Given the description of an element on the screen output the (x, y) to click on. 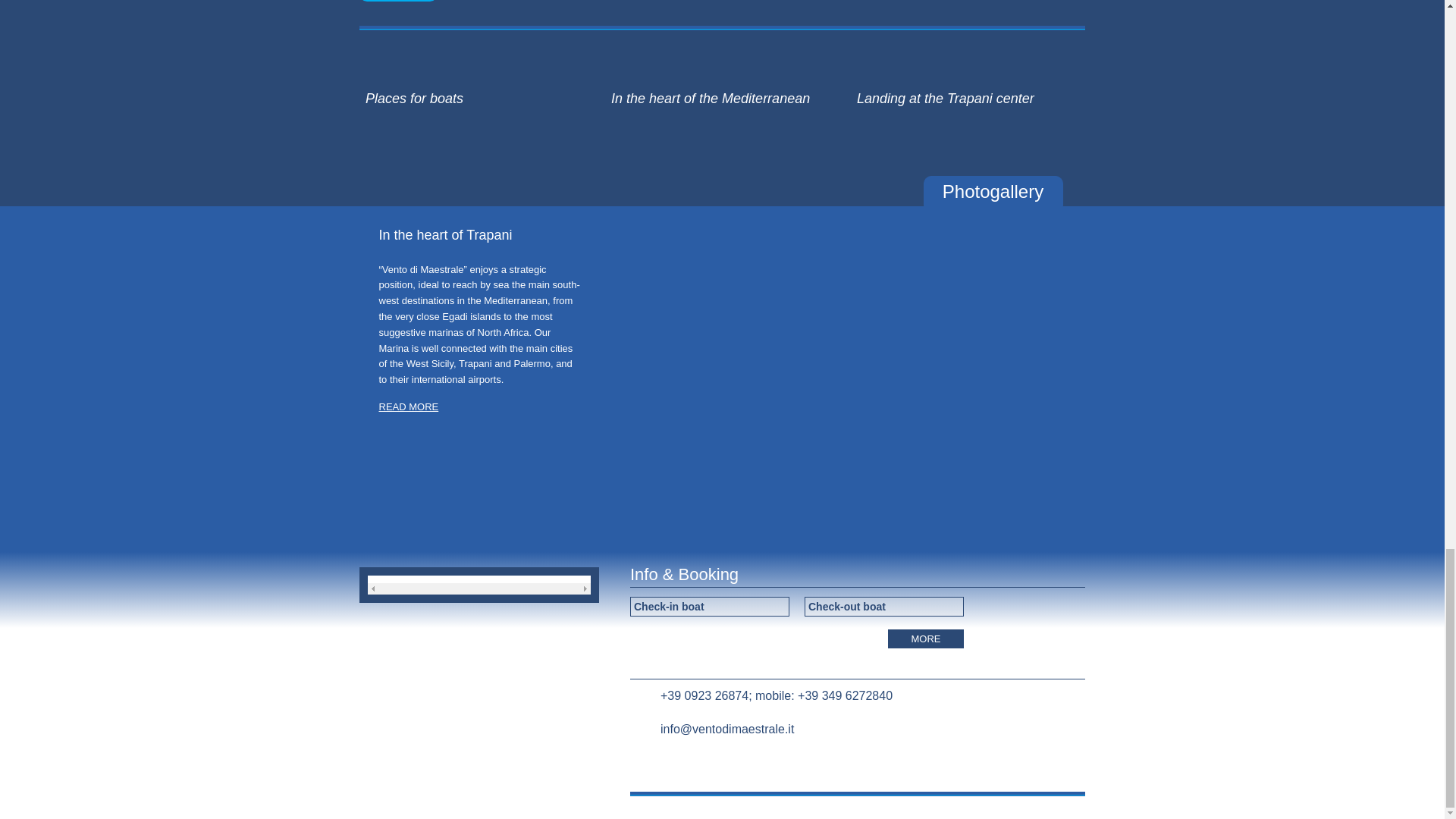
Check-out boat (884, 606)
Photogallery (992, 190)
Landing at the Trapani center (970, 85)
More (925, 638)
READ MORE (398, 0)
Check-in boat (709, 606)
READ MORE (408, 406)
Places for boats (478, 85)
In the heart of the Mediterranean (724, 85)
More (925, 638)
